Given the description of an element on the screen output the (x, y) to click on. 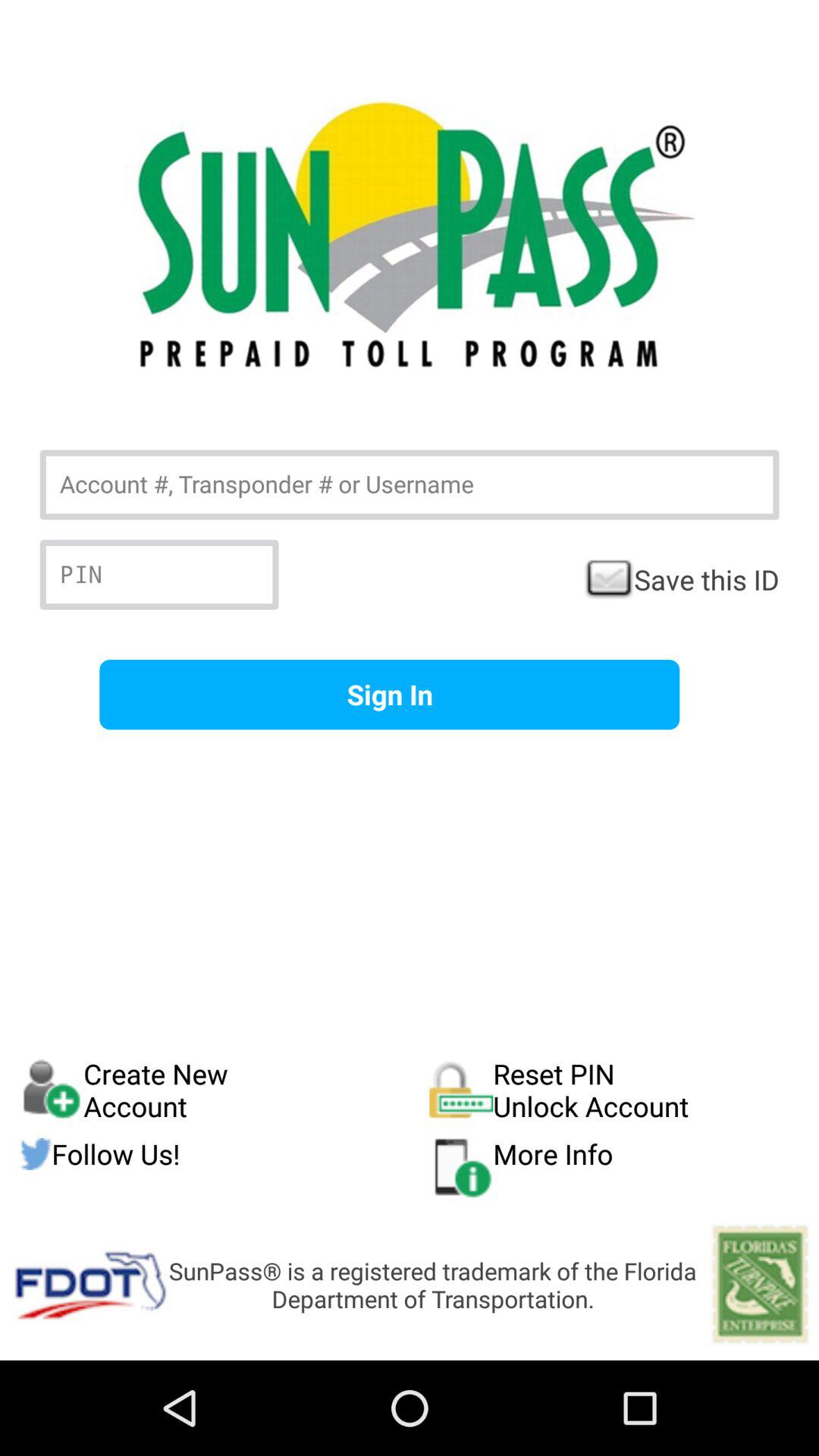
choose icon above sunpass is a (614, 1166)
